Given the description of an element on the screen output the (x, y) to click on. 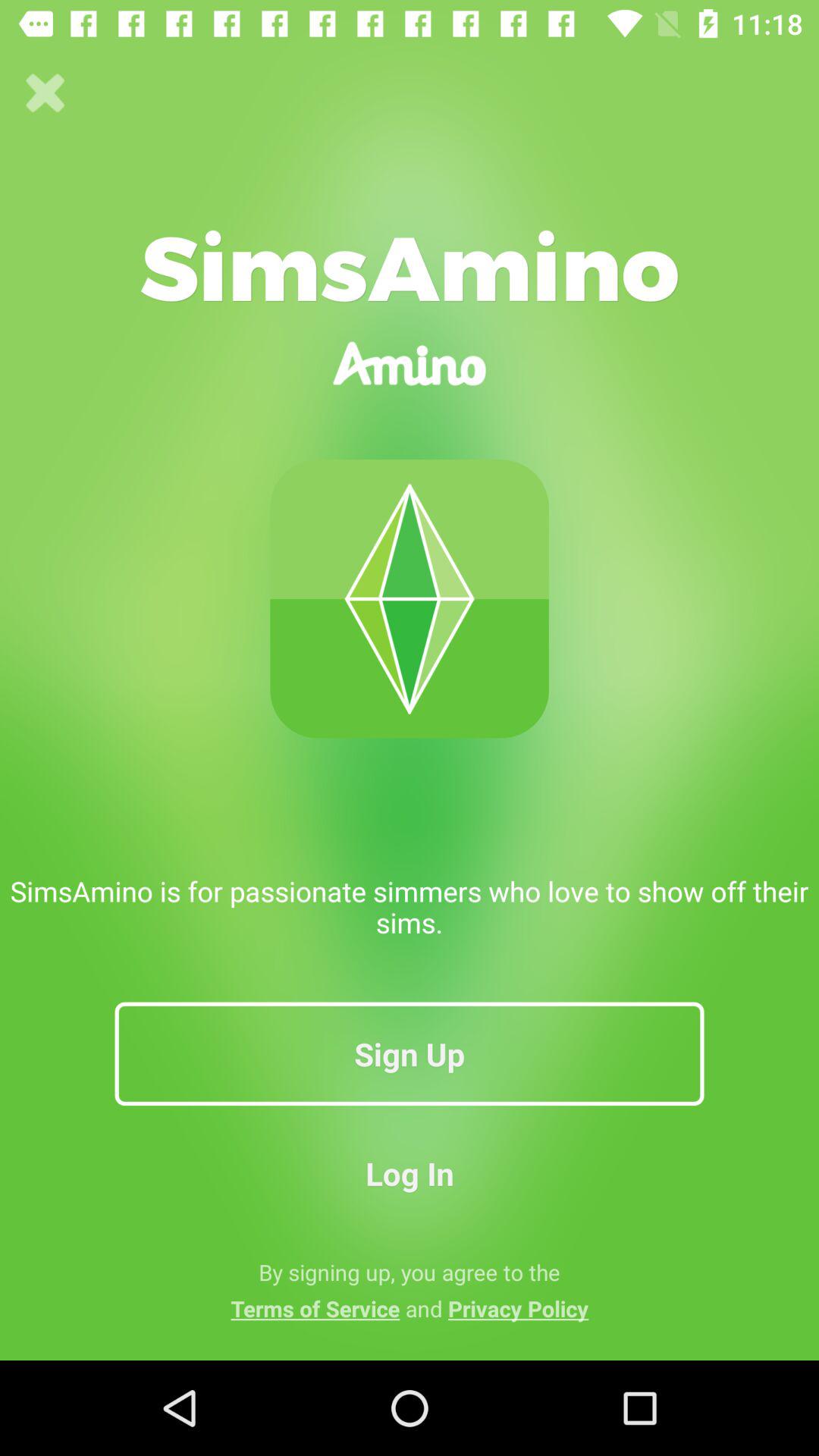
close the page (45, 93)
